Given the description of an element on the screen output the (x, y) to click on. 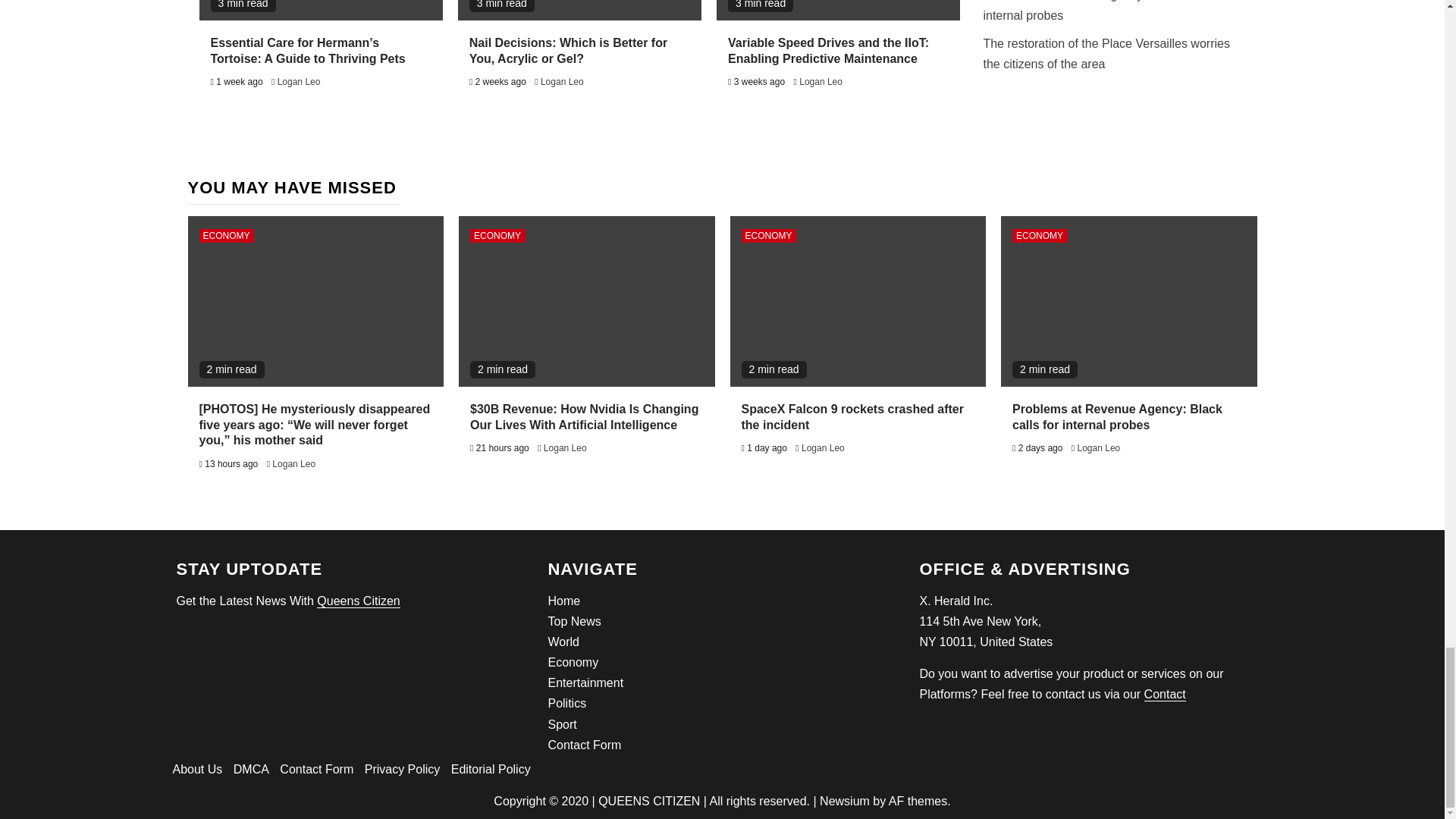
Logan Leo (821, 81)
Logan Leo (561, 81)
Logan Leo (299, 81)
Nail Decisions: Which is Better for You, Acrylic or Gel? (567, 50)
